Given the description of an element on the screen output the (x, y) to click on. 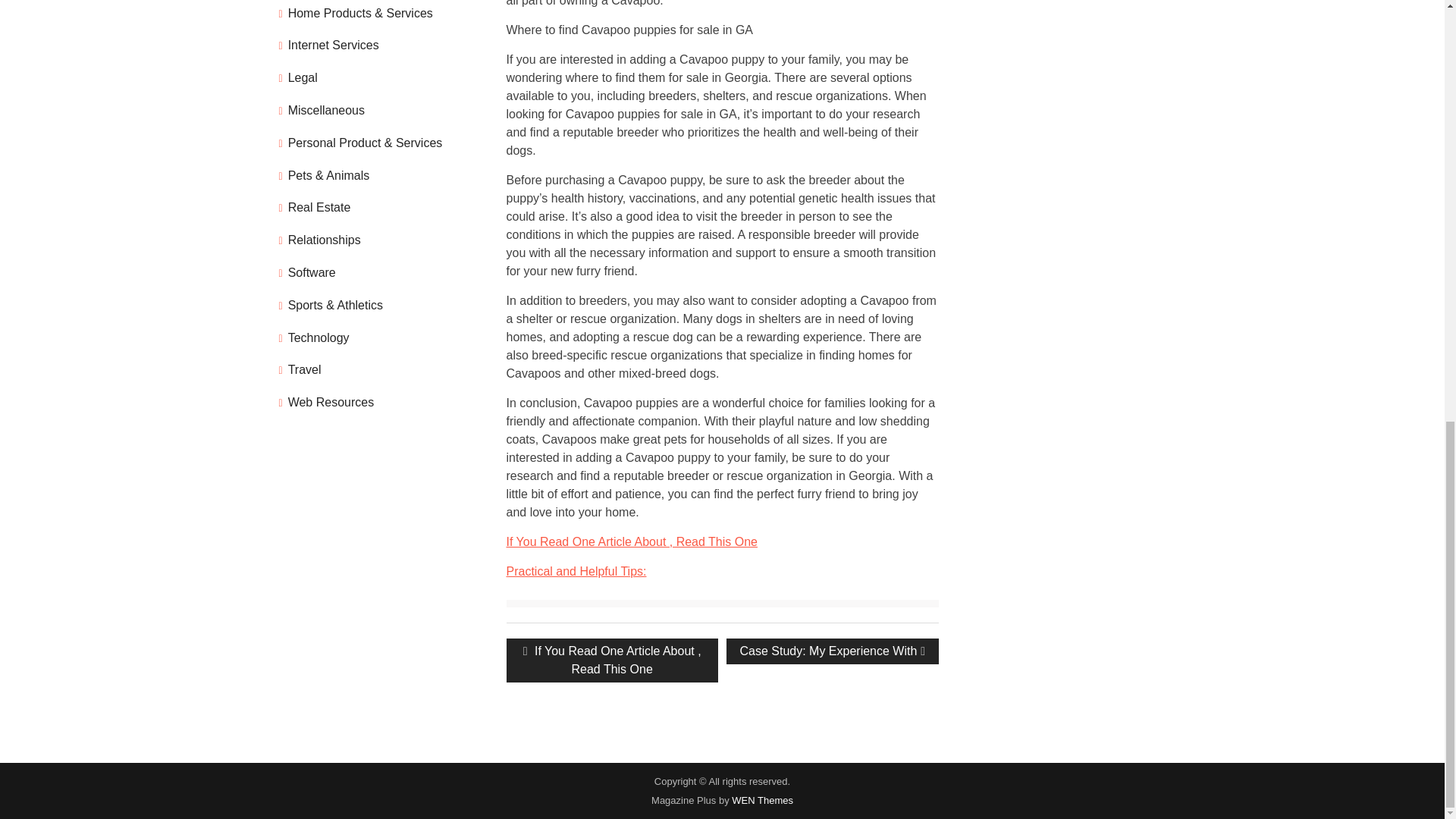
If You Read One Article About , Read This One (631, 541)
Practical and Helpful Tips: (576, 571)
